Given the description of an element on the screen output the (x, y) to click on. 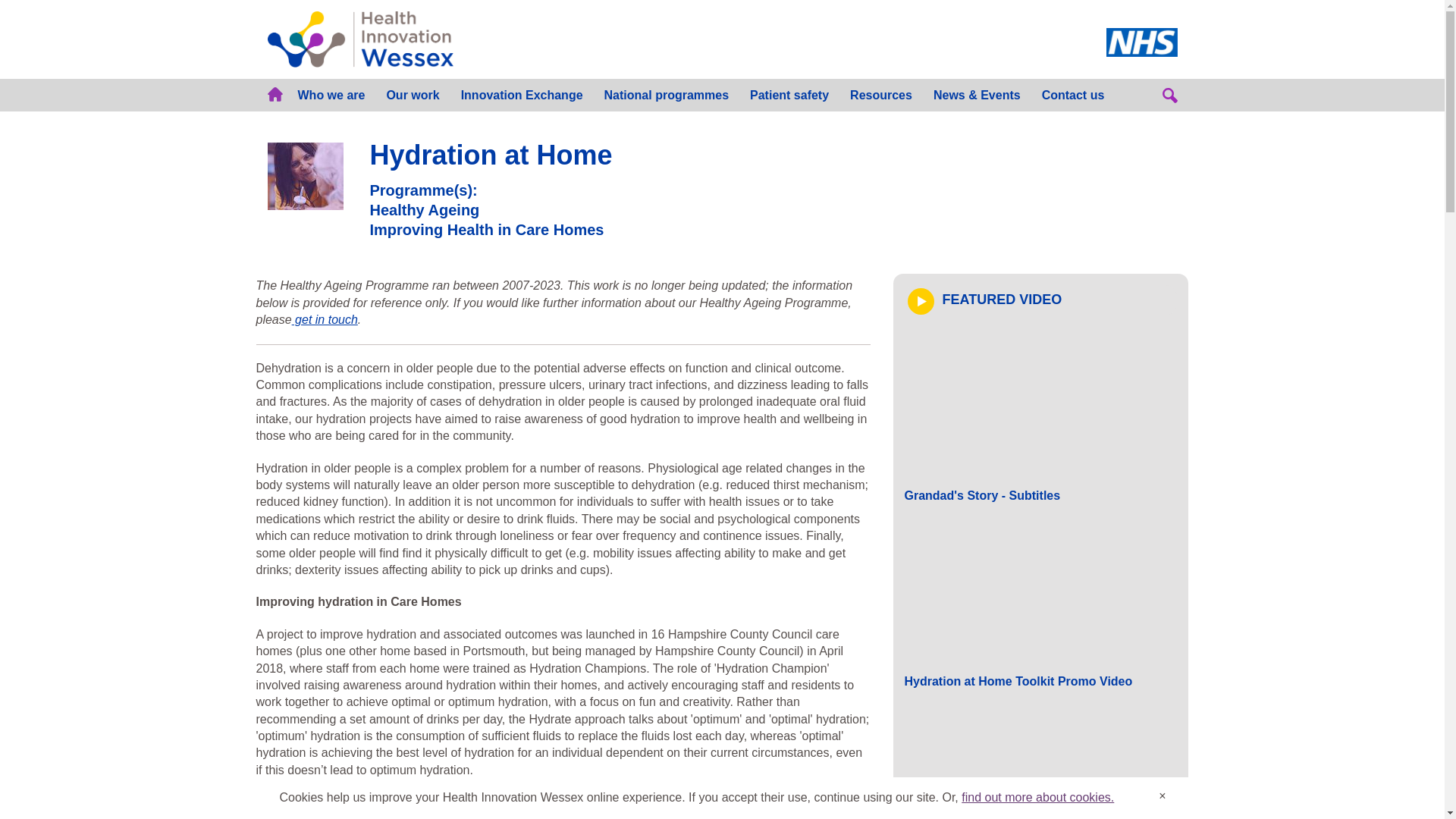
Innovation Exchange (522, 94)
Our work (412, 94)
Who we are (331, 94)
